Given the description of an element on the screen output the (x, y) to click on. 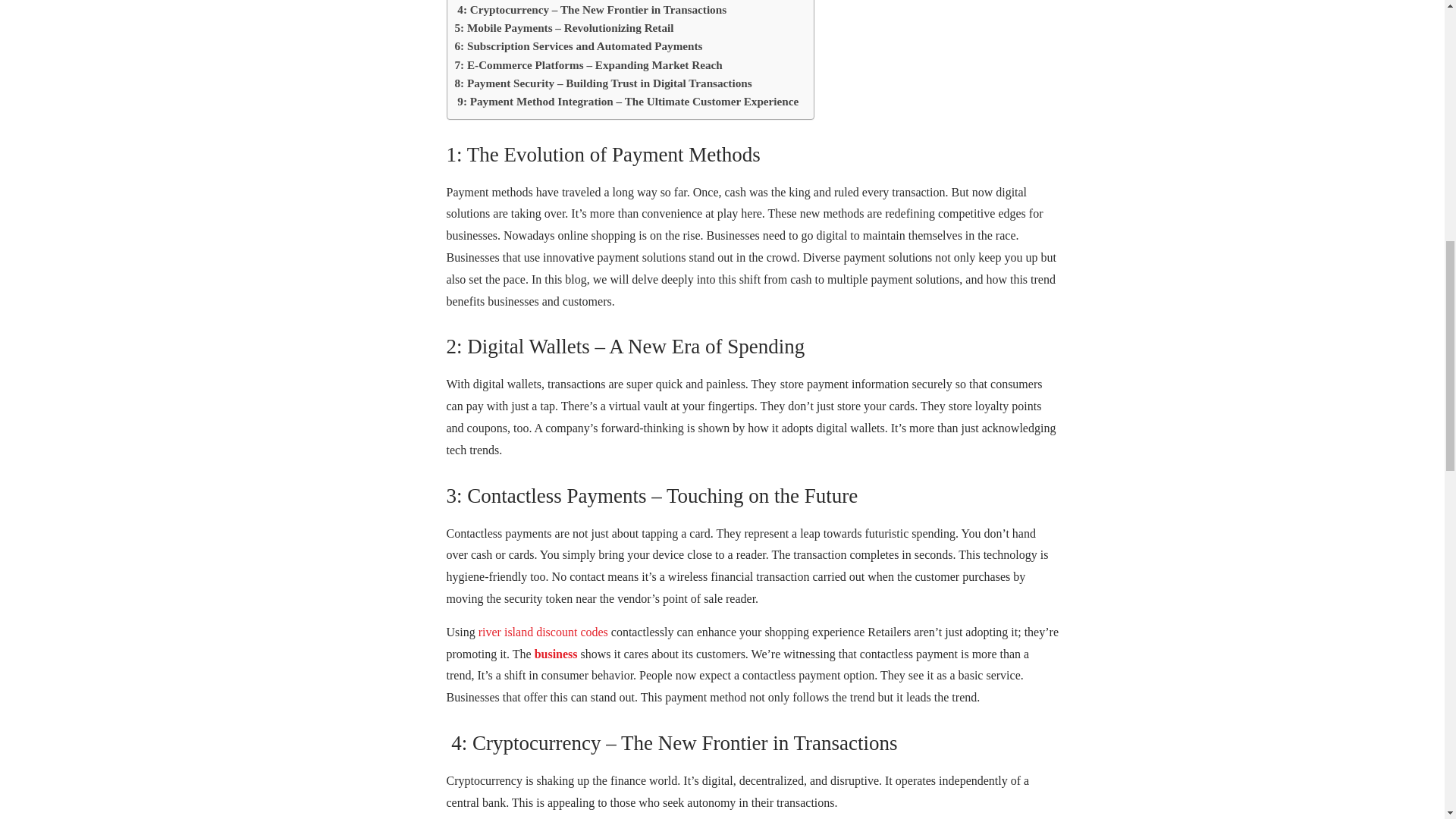
6: Subscription Services and Automated Payments (578, 45)
